Given the description of an element on the screen output the (x, y) to click on. 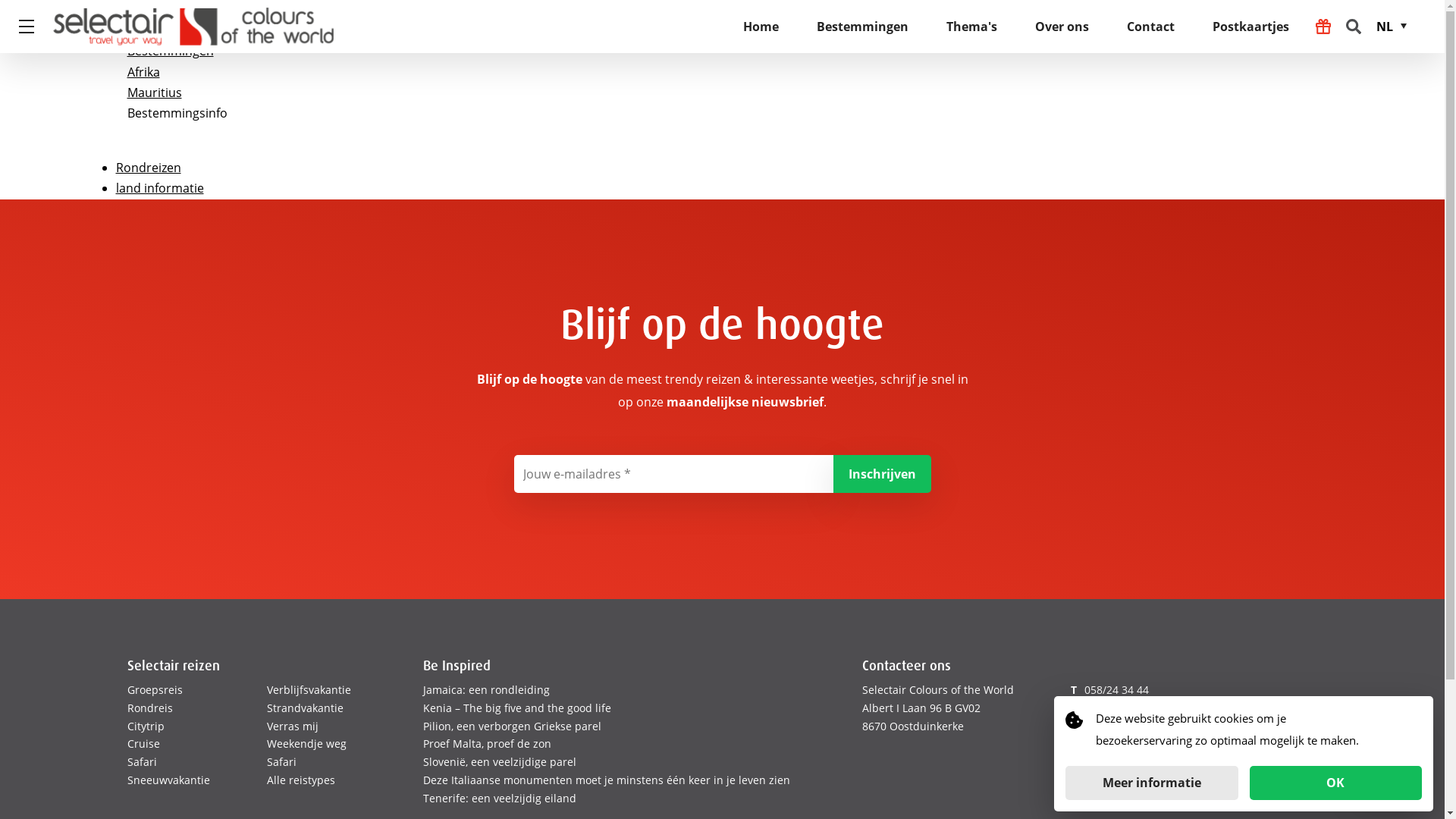
Verras mij Element type: text (292, 725)
Rondreizen Element type: text (147, 167)
Contact Element type: text (1150, 26)
Verblijfsvakantie Element type: text (308, 689)
Citytrip Element type: text (145, 725)
NL Element type: text (1397, 26)
Strandvakantie Element type: text (304, 707)
Meer informatie Element type: text (1151, 782)
Pilion, een verborgen Griekse parel Element type: text (512, 725)
Thema's Element type: text (971, 26)
Mauritius Element type: text (154, 92)
Afrika Element type: text (143, 71)
Over ons Element type: text (1061, 26)
Home Element type: text (760, 26)
Sneeuwvakantie Element type: text (168, 779)
Bestemmingen Element type: text (862, 26)
coloursoftheworld@selectair.be Element type: text (1164, 707)
Groepsreis Element type: text (154, 689)
Safari Element type: text (141, 761)
Rondreis Element type: text (149, 707)
Safari Element type: text (281, 761)
Alle reistypes Element type: text (300, 779)
land informatie Element type: text (159, 187)
058/24 34 44 Element type: text (1116, 689)
Proef Malta, proef de zon Element type: text (487, 743)
Tenerife: een veelzijdig eiland Element type: text (499, 797)
Inschrijven Element type: text (881, 473)
Cruise Element type: text (143, 743)
Bestemmingen Element type: text (170, 50)
OK Element type: text (1335, 782)
Home Element type: text (144, 29)
Jamaica: een rondleiding Element type: text (486, 689)
Postkaartjes Element type: text (1250, 26)
Weekendje weg Element type: text (306, 743)
